Given the description of an element on the screen output the (x, y) to click on. 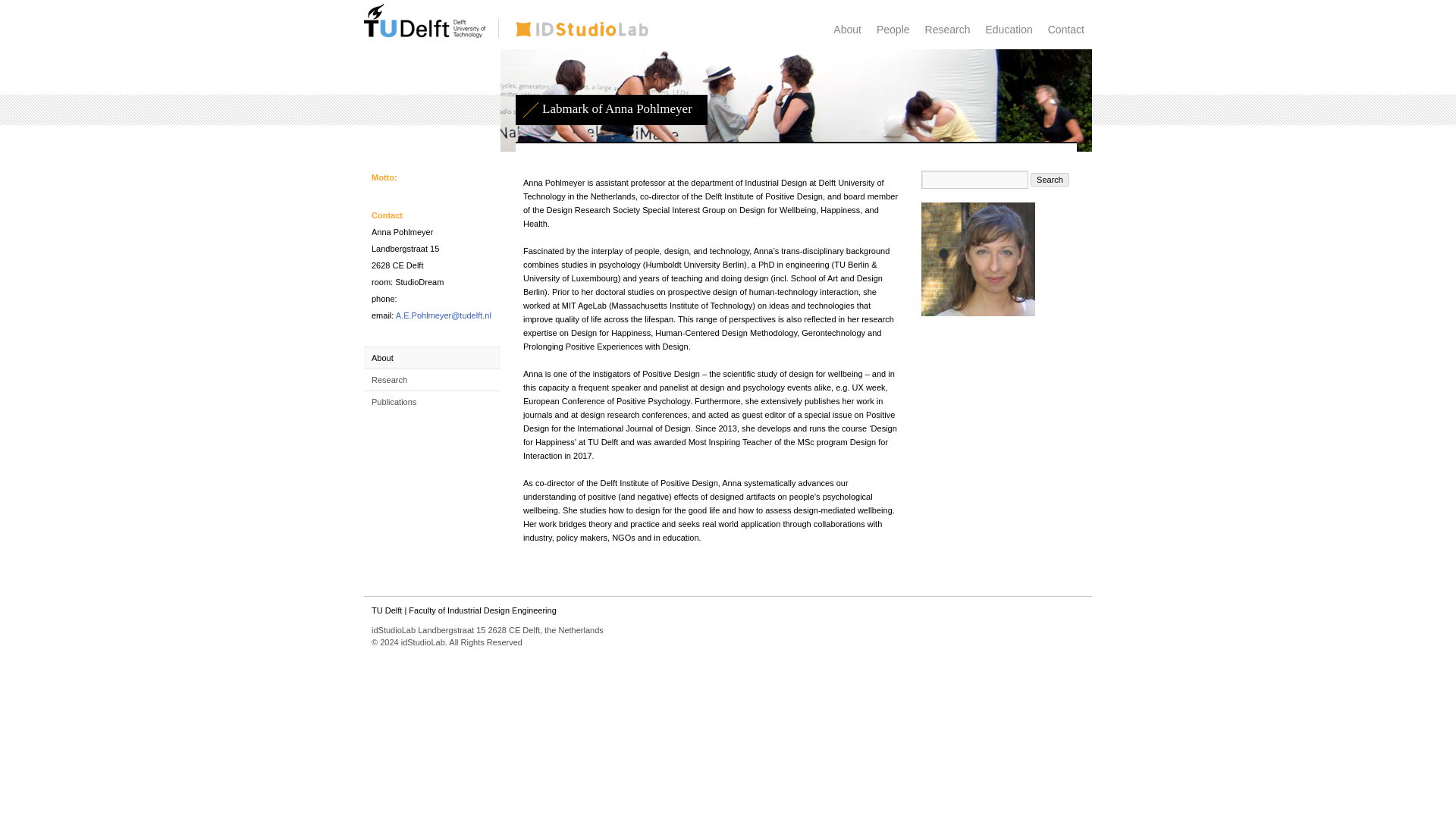
education (1007, 29)
research (947, 29)
people (893, 29)
People (893, 29)
About (847, 29)
Labmark of Anna Pohlmeyer (581, 33)
Publications (393, 401)
TU Delft (425, 34)
About (382, 357)
contact (1066, 29)
Research (947, 29)
Faculty of Industrial Design Engineering (482, 610)
Education (1007, 29)
about (847, 29)
Search (1049, 179)
